Given the description of an element on the screen output the (x, y) to click on. 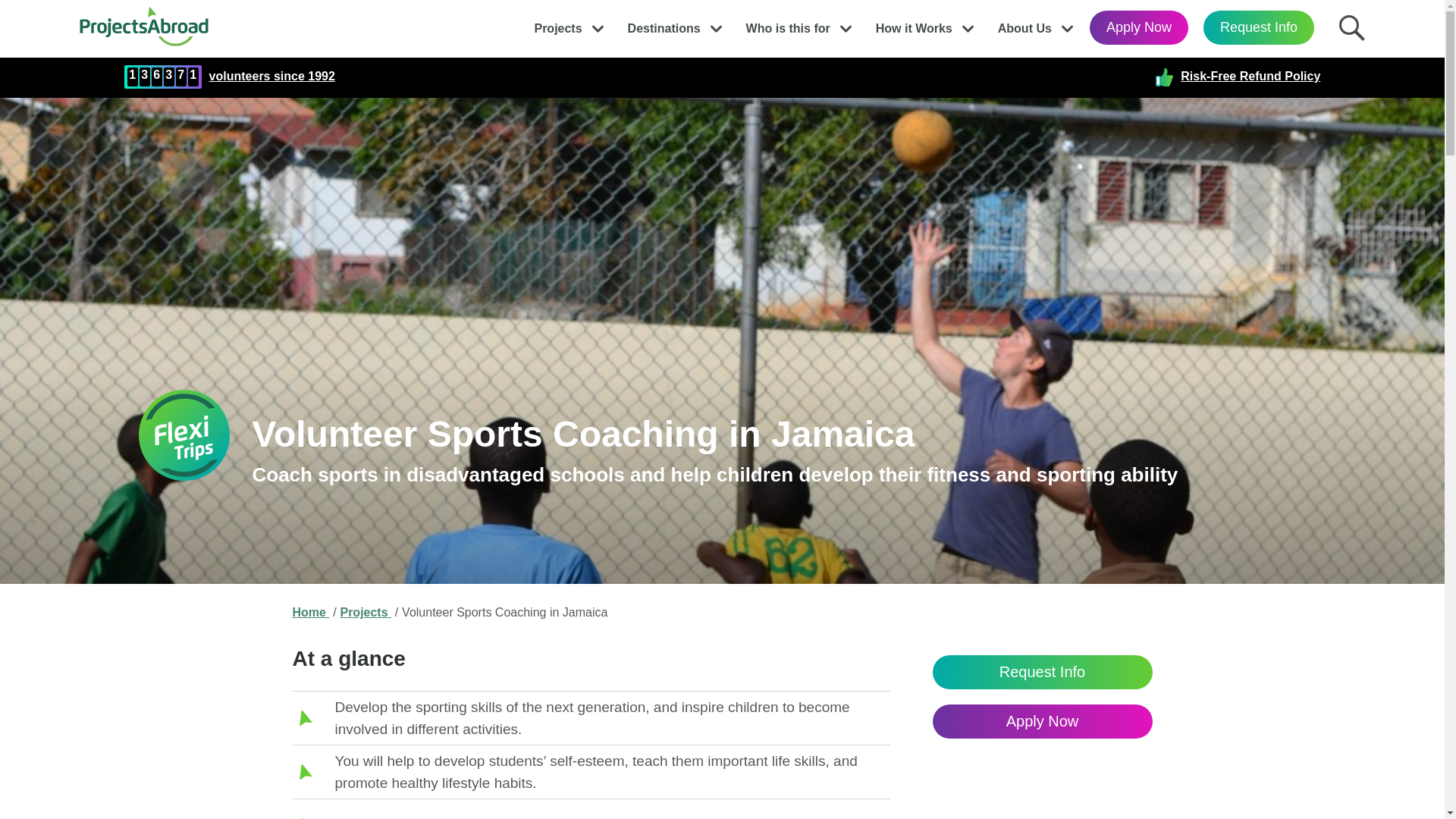
Customer reviews powered by Trustpilot (745, 77)
Projects (557, 24)
